Given the description of an element on the screen output the (x, y) to click on. 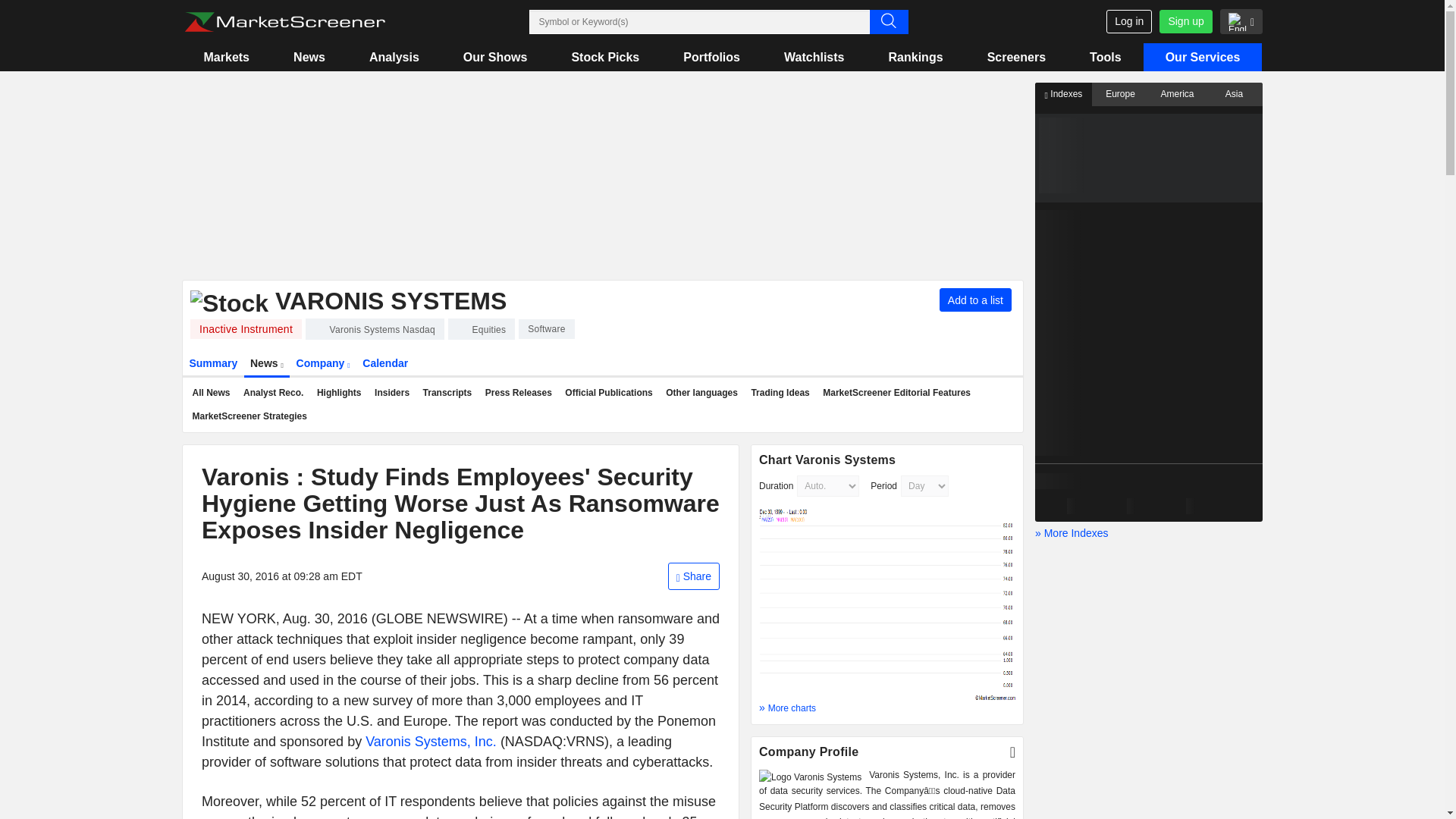
Markets (226, 57)
Sign up (1184, 21)
Advanced search (888, 21)
Marketscreener: stock market and financial news (284, 21)
Log in (1128, 21)
